Given the description of an element on the screen output the (x, y) to click on. 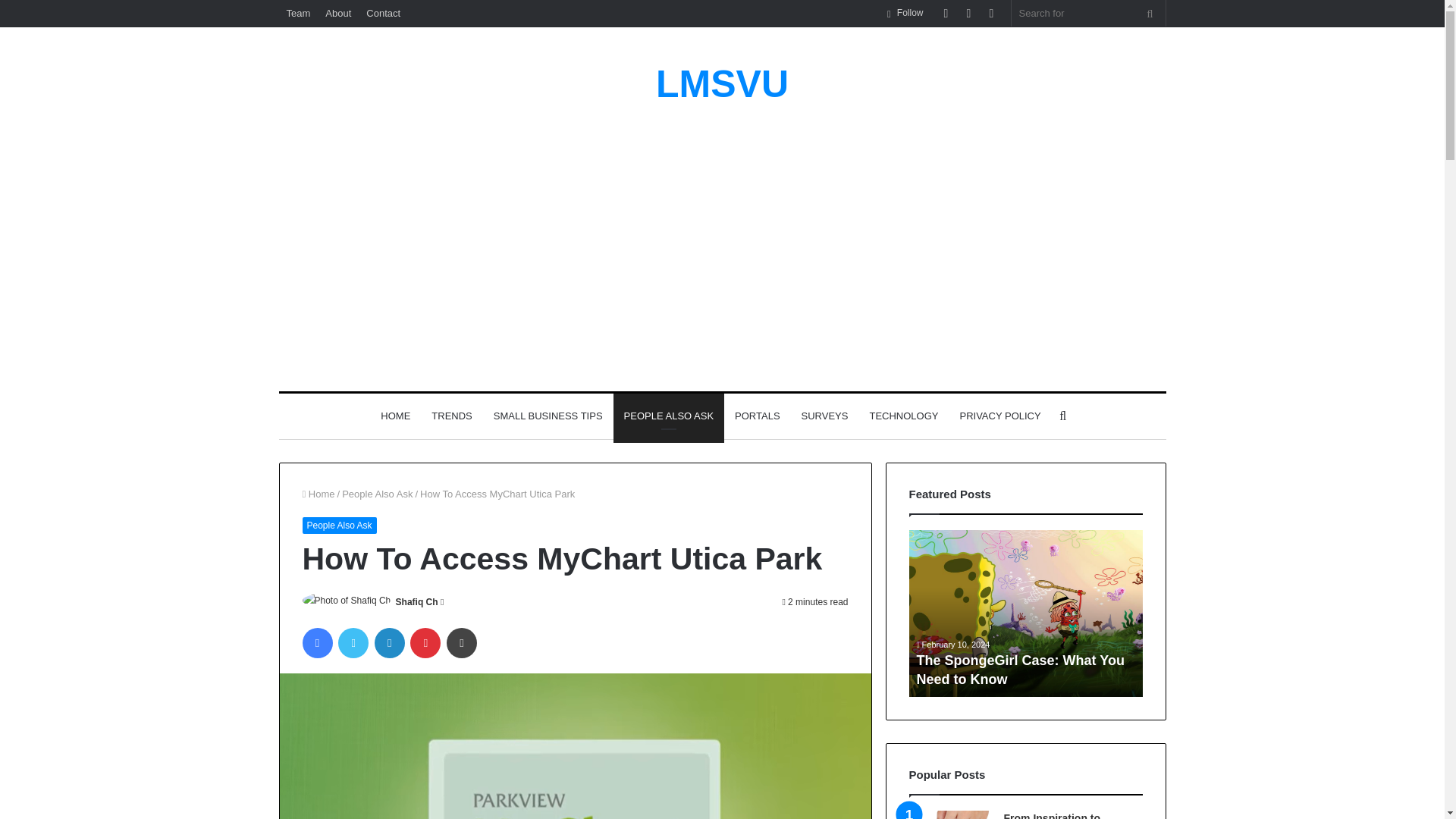
Facebook (316, 643)
Team (298, 13)
People Also Ask (338, 524)
Contact (382, 13)
Twitter (352, 643)
Print (461, 643)
HOME (394, 415)
LMSVU (722, 84)
TECHNOLOGY (904, 415)
